Given the description of an element on the screen output the (x, y) to click on. 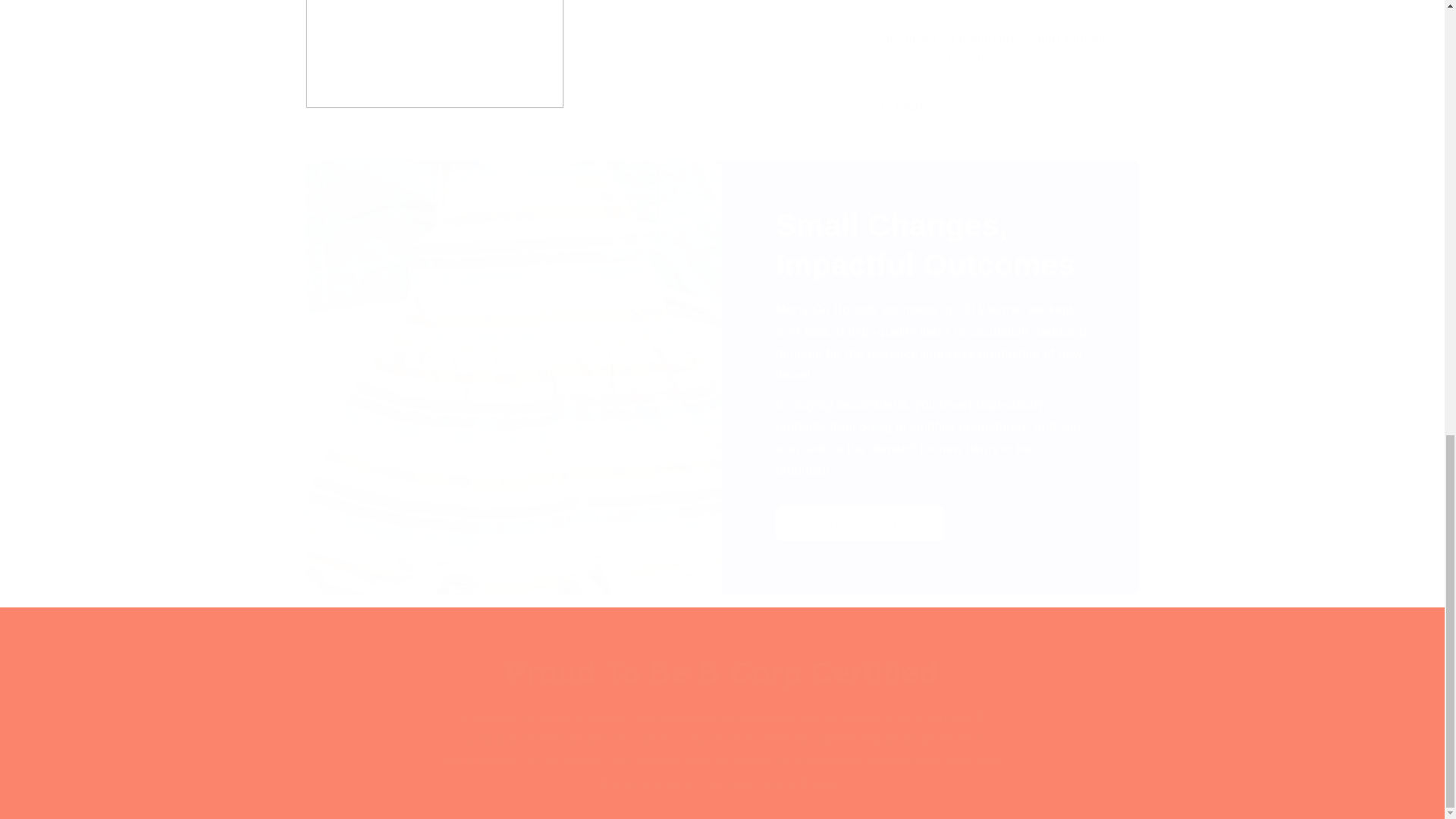
Open media 2 in modal (434, 47)
Proud To Be B Corp Certified (721, 672)
